Given the description of an element on the screen output the (x, y) to click on. 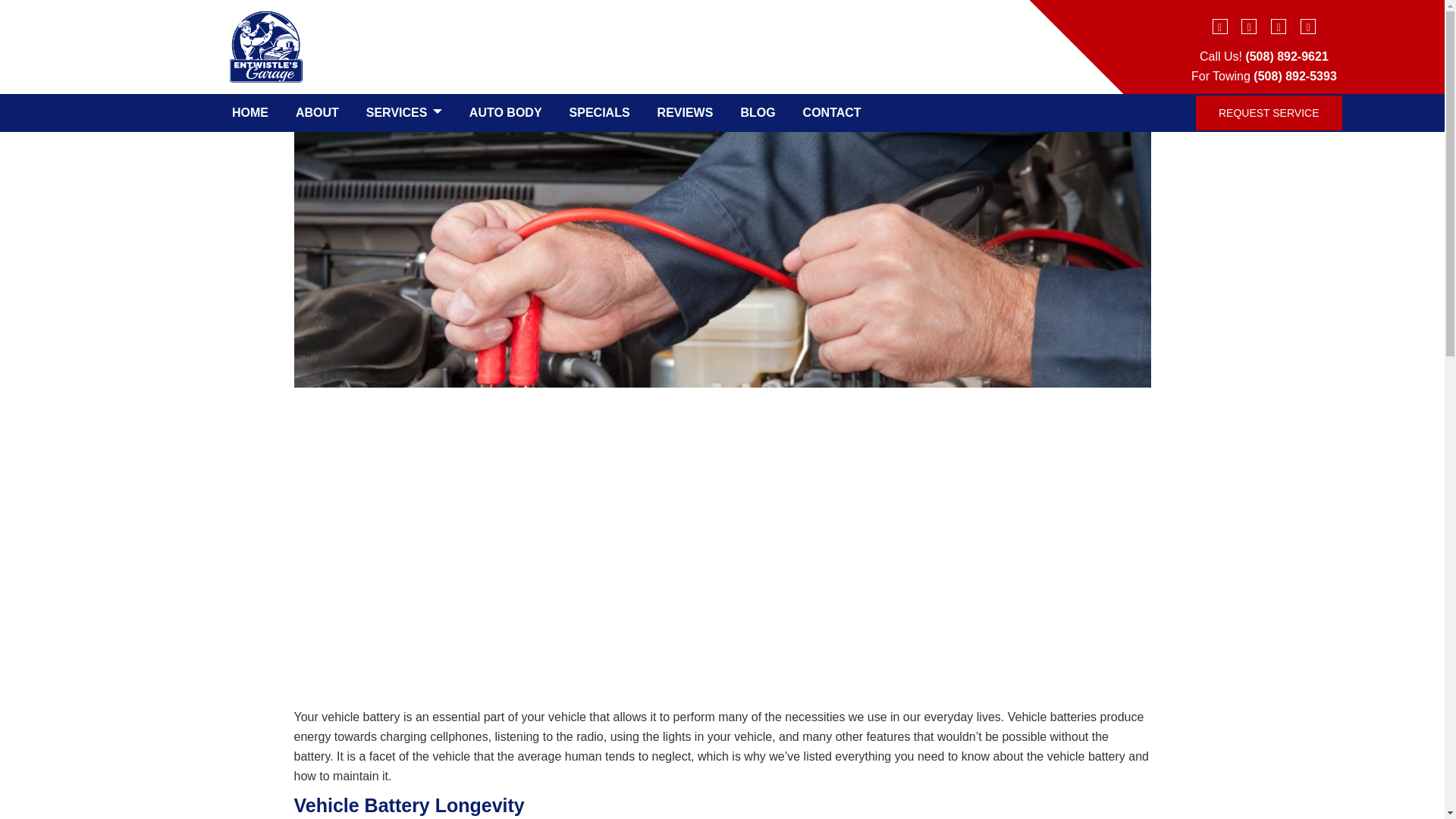
ABOUT (317, 113)
REVIEWS (684, 113)
REQUEST SERVICE (1268, 113)
SPECIALS (599, 113)
AUTO BODY (505, 113)
CONTACT (831, 113)
HOME (250, 113)
BLOG (756, 113)
SERVICES (403, 113)
